Given the description of an element on the screen output the (x, y) to click on. 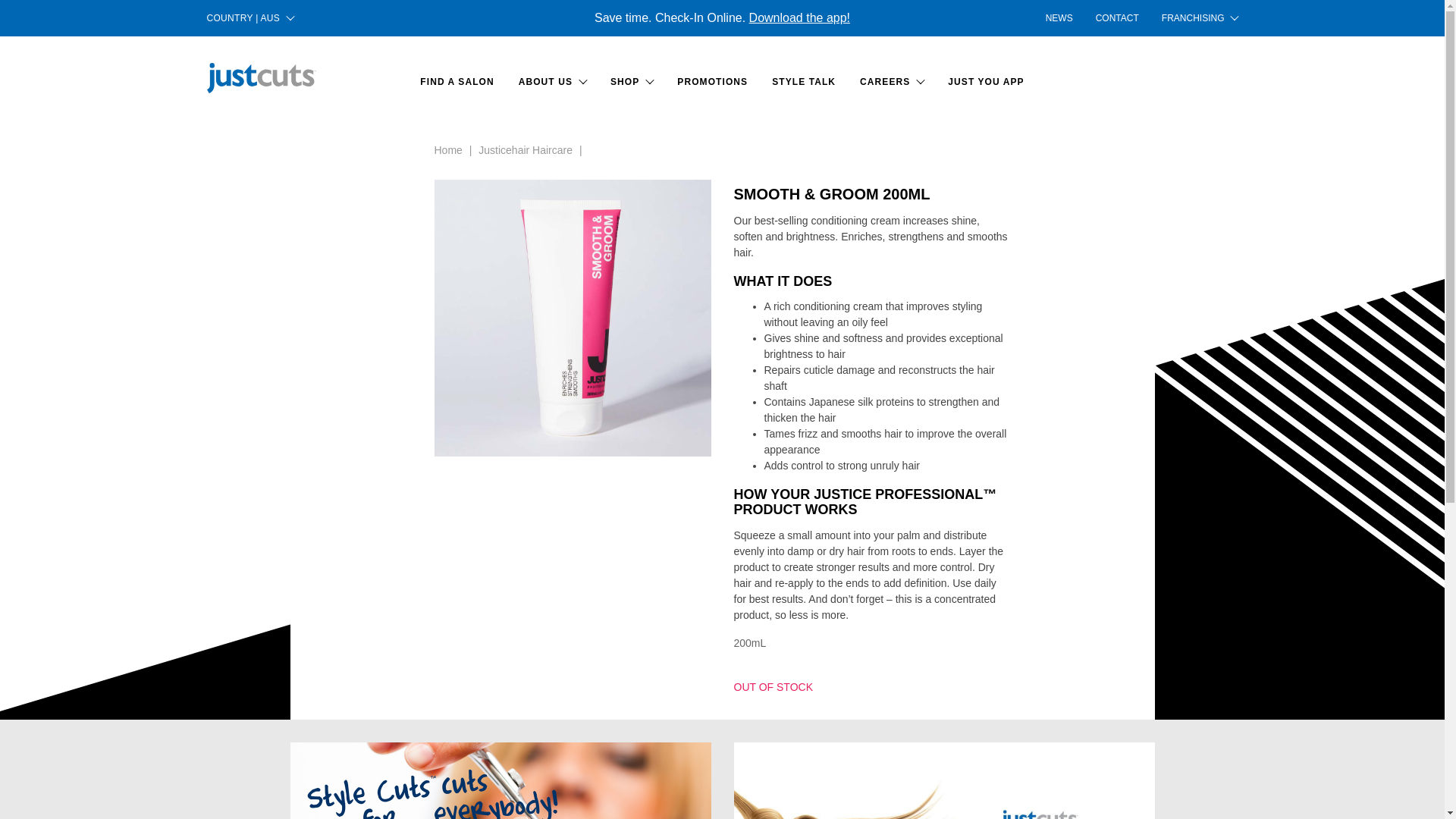
Home Element type: text (447, 150)
JUST YOU APP Element type: text (985, 81)
COUNTRY | AUS Element type: text (249, 18)
SHOP Element type: text (631, 81)
Download the app! Element type: text (799, 17)
ABOUT US Element type: text (552, 81)
FRANCHISING Element type: text (1194, 18)
PROMOTIONS Element type: text (712, 81)
CONTACT Element type: text (1117, 18)
STYLE TALK Element type: text (803, 81)
NEWS Element type: text (1059, 18)
FIND A SALON Element type: text (456, 81)
Just Cuts Home Page Element type: hover (260, 77)
CAREERS Element type: text (891, 81)
Justicehair Haircare Element type: text (525, 150)
